Given the description of an element on the screen output the (x, y) to click on. 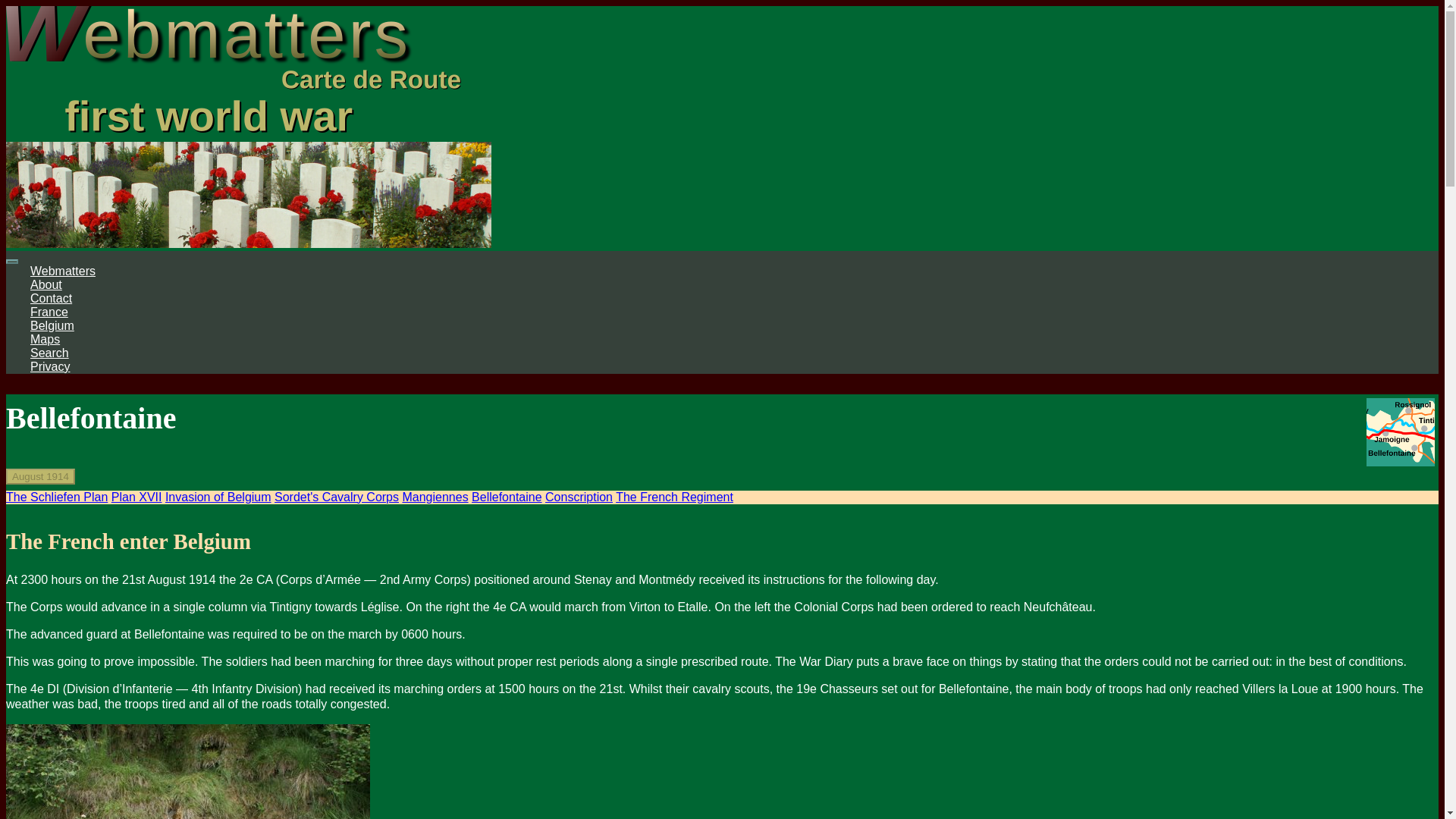
Webmatters (63, 270)
Belgium (52, 325)
The French Regiment (674, 496)
Plan XVII (136, 496)
About (46, 284)
Maps (44, 338)
August 1914 (40, 476)
Contact (50, 297)
Search (49, 352)
France (49, 311)
Bellefontaine (506, 496)
Invasion of Belgium (217, 496)
Privacy (49, 366)
Sordet's Cavalry Corps (336, 496)
The Schliefen Plan (56, 496)
